Given the description of an element on the screen output the (x, y) to click on. 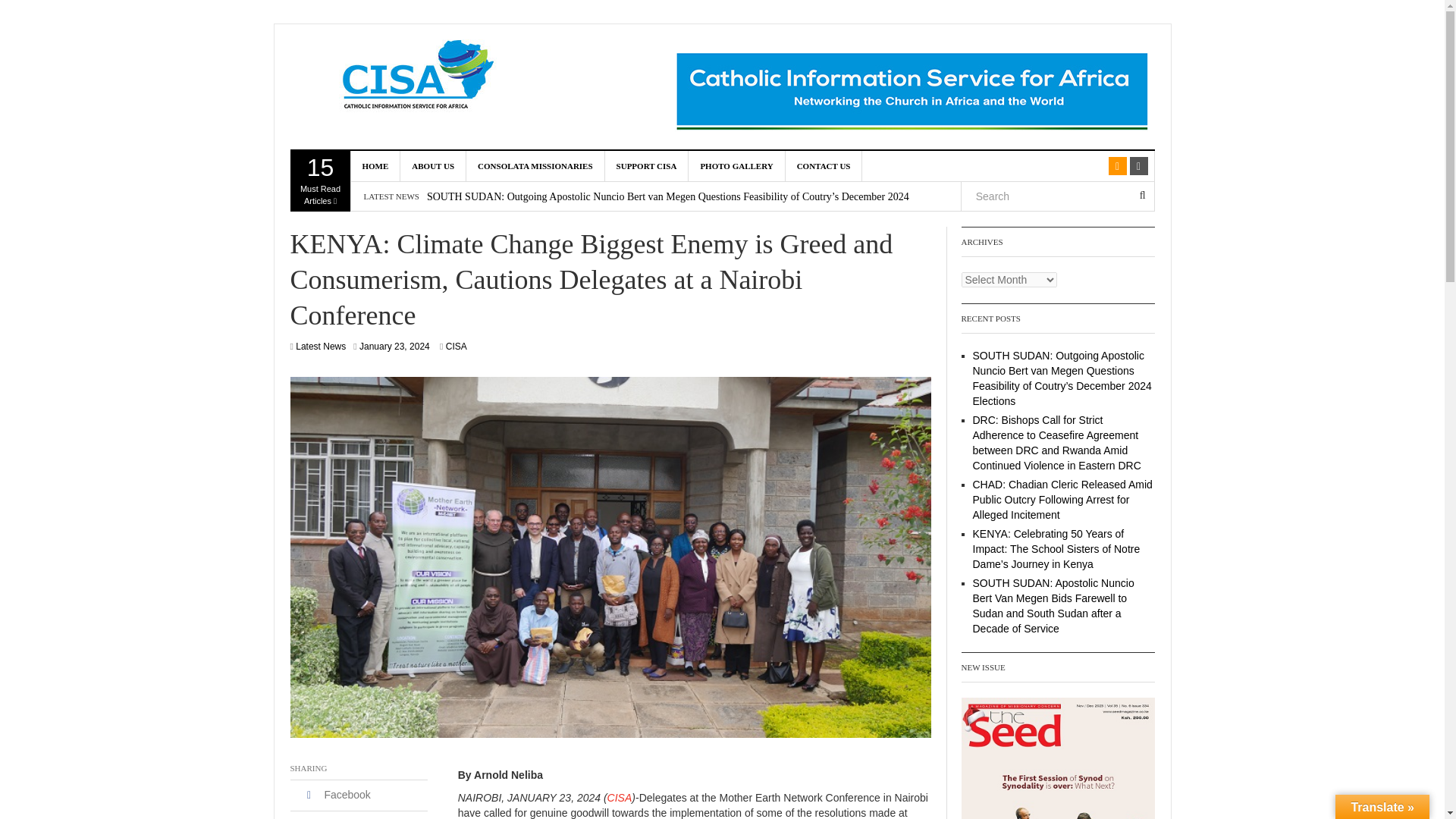
ABOUT US (432, 165)
Facebook (336, 794)
CISA (319, 180)
PHOTO GALLERY (619, 797)
Latest News (394, 346)
CONTACT US (736, 165)
CISA (320, 346)
